Given the description of an element on the screen output the (x, y) to click on. 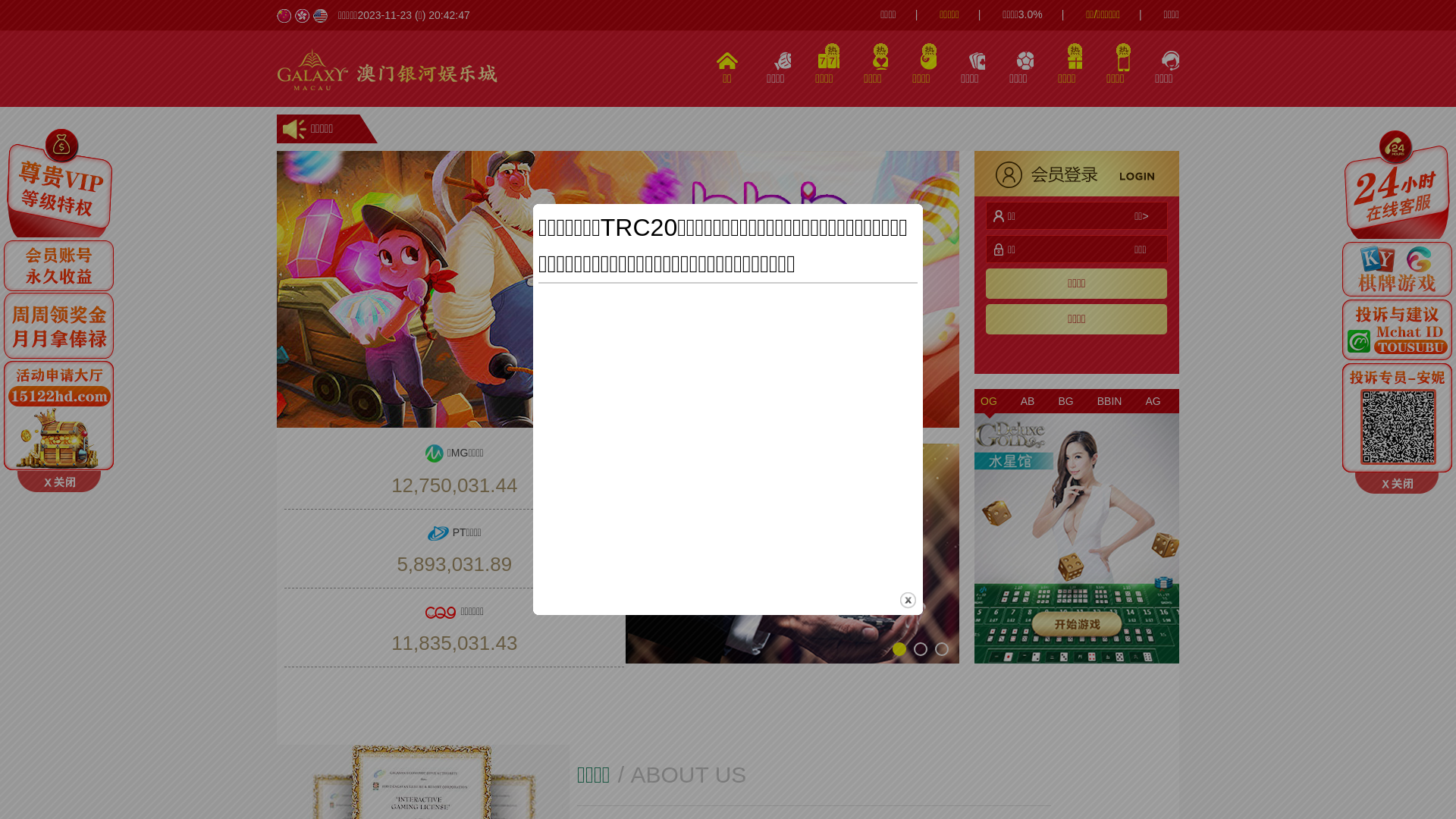
AG Element type: text (1152, 401)
AB Element type: text (1027, 401)
BBIN Element type: text (1109, 401)
OG Element type: text (988, 401)
close Element type: text (907, 599)
BG Element type: text (1065, 401)
